Given the description of an element on the screen output the (x, y) to click on. 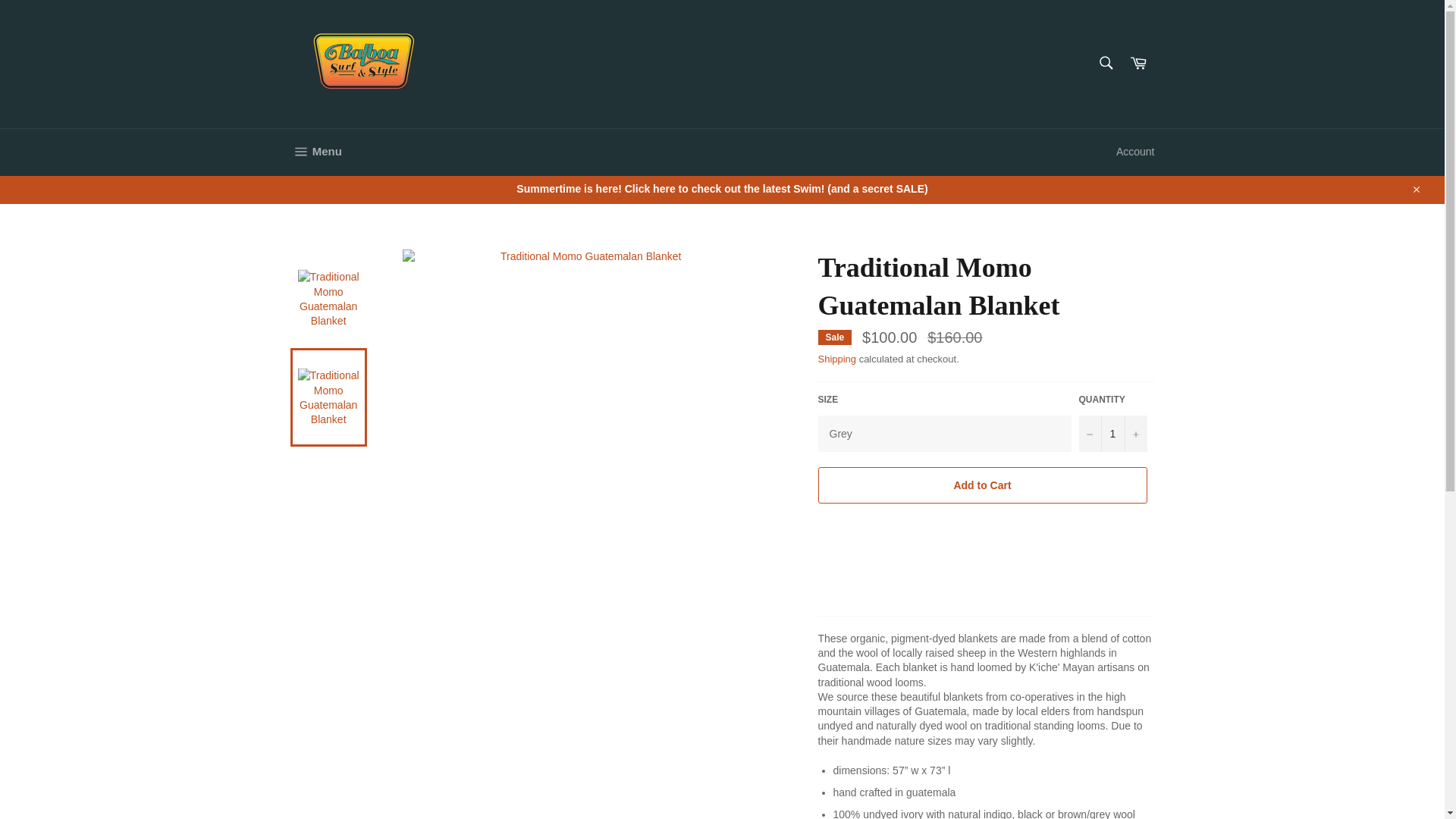
1 (1112, 433)
